Given the description of an element on the screen output the (x, y) to click on. 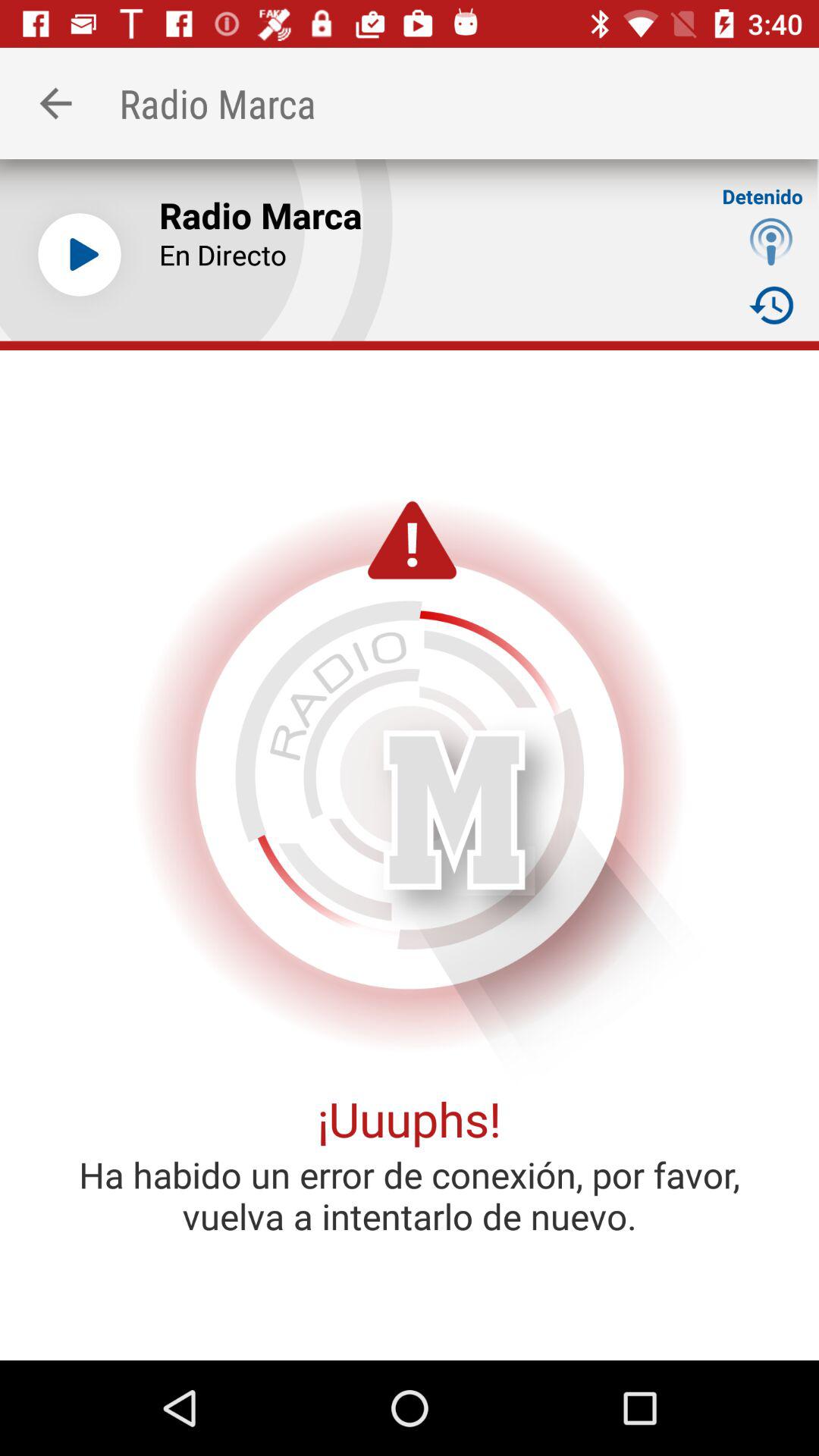
turn on icon to the left of the radio marca item (79, 254)
